Given the description of an element on the screen output the (x, y) to click on. 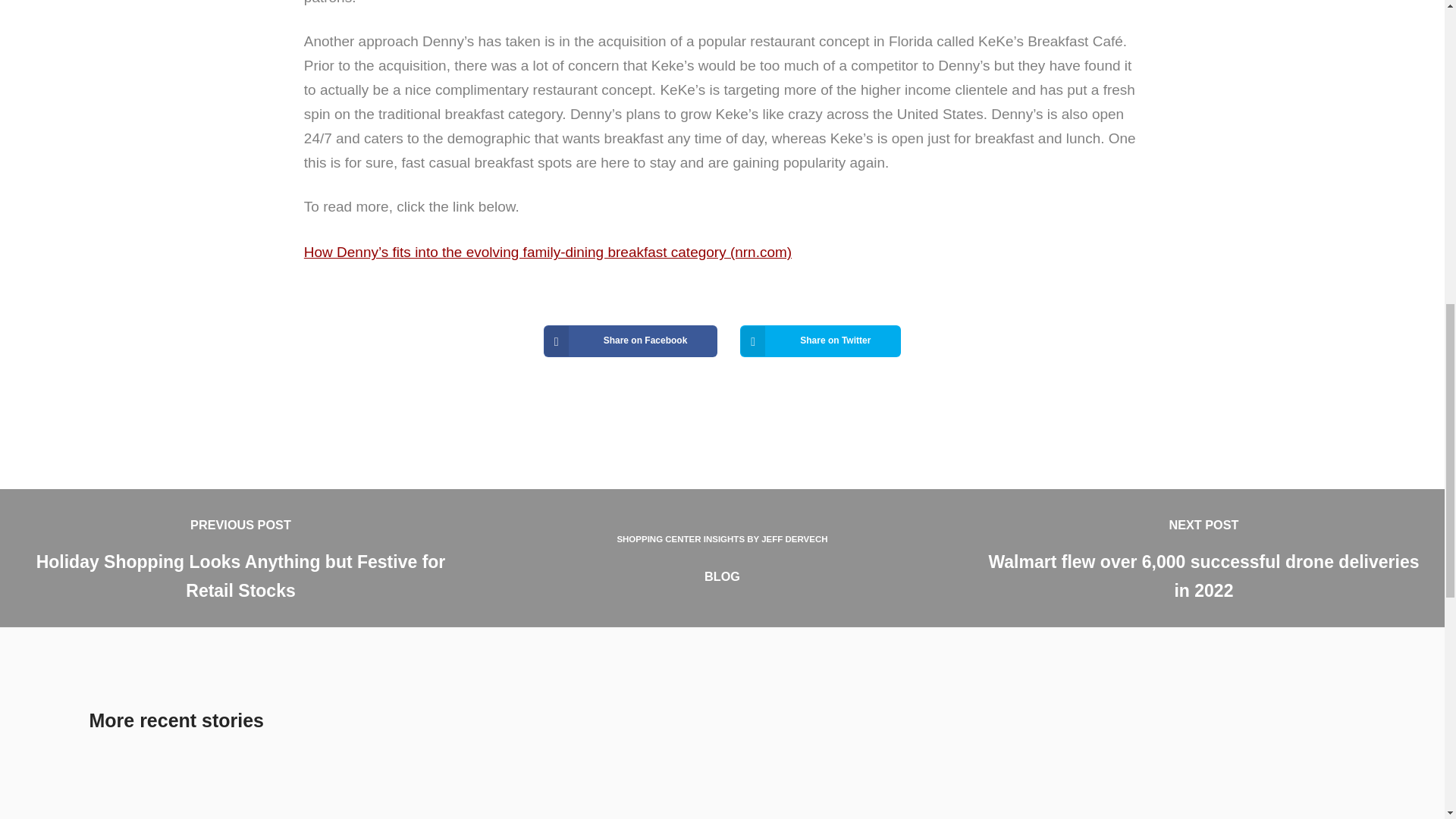
Share on Facebook (721, 557)
Share on Twitter (630, 341)
